Given the description of an element on the screen output the (x, y) to click on. 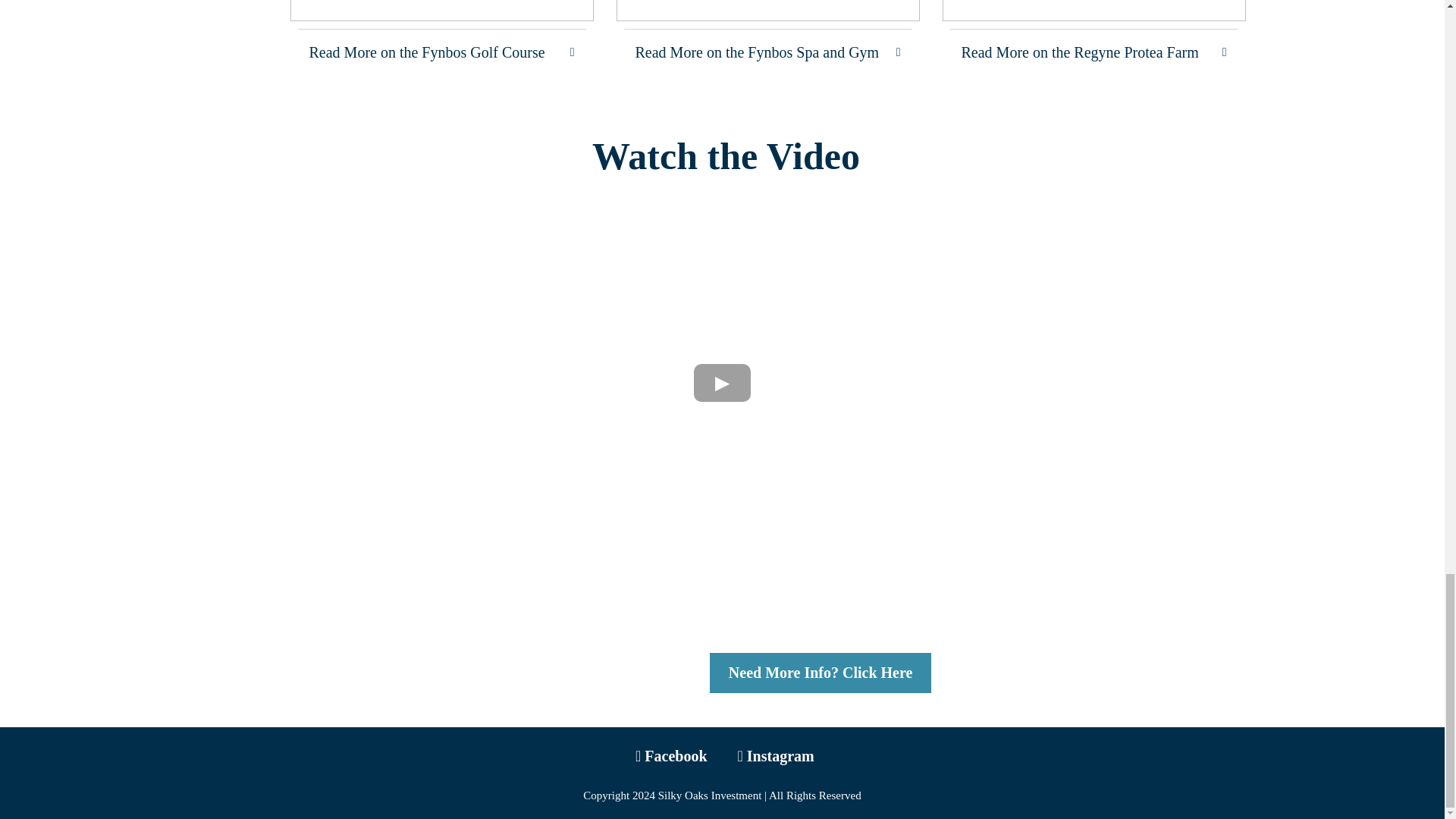
Instagram (779, 755)
Facebook (675, 755)
Need More Info? Click Here (820, 672)
